Given the description of an element on the screen output the (x, y) to click on. 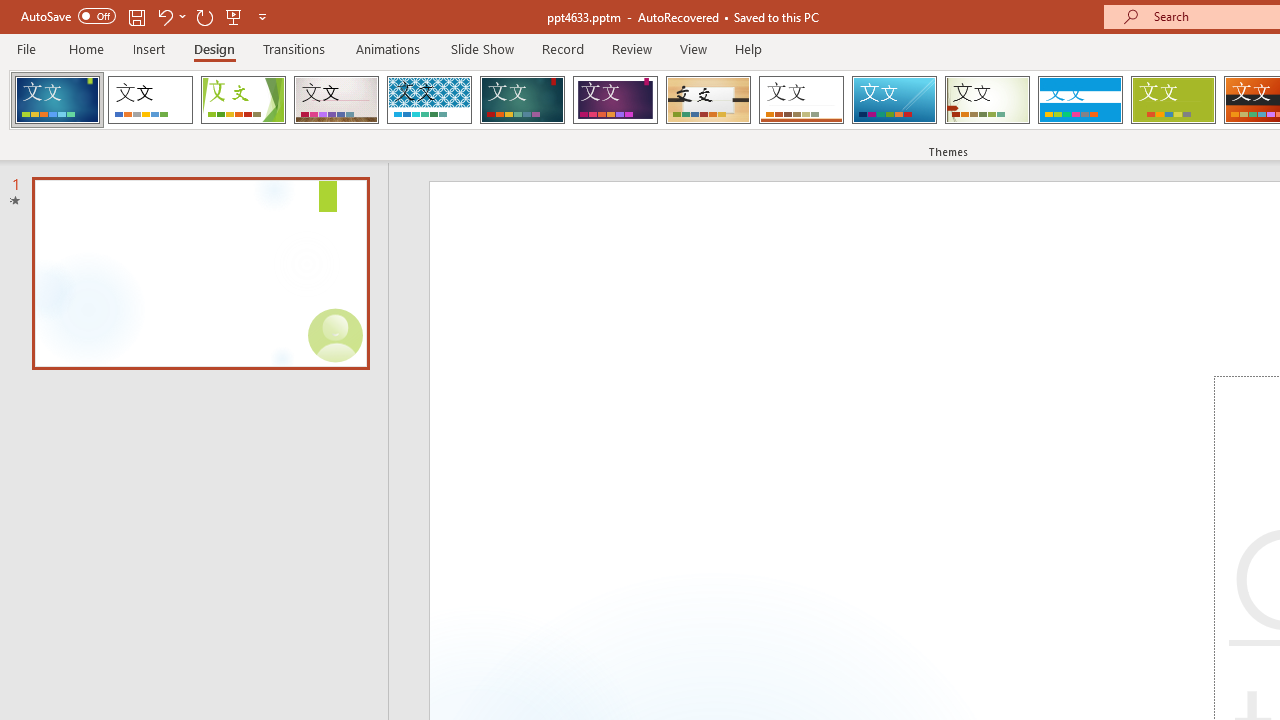
From Beginning (234, 15)
Help (748, 48)
Integral (429, 100)
Organic Loading Preview... (708, 100)
Ion (522, 100)
Quick Access Toolbar (145, 16)
View (693, 48)
Ion Boardroom Loading Preview... (615, 100)
Home (86, 48)
Office Theme (150, 100)
Review (631, 48)
